Given the description of an element on the screen output the (x, y) to click on. 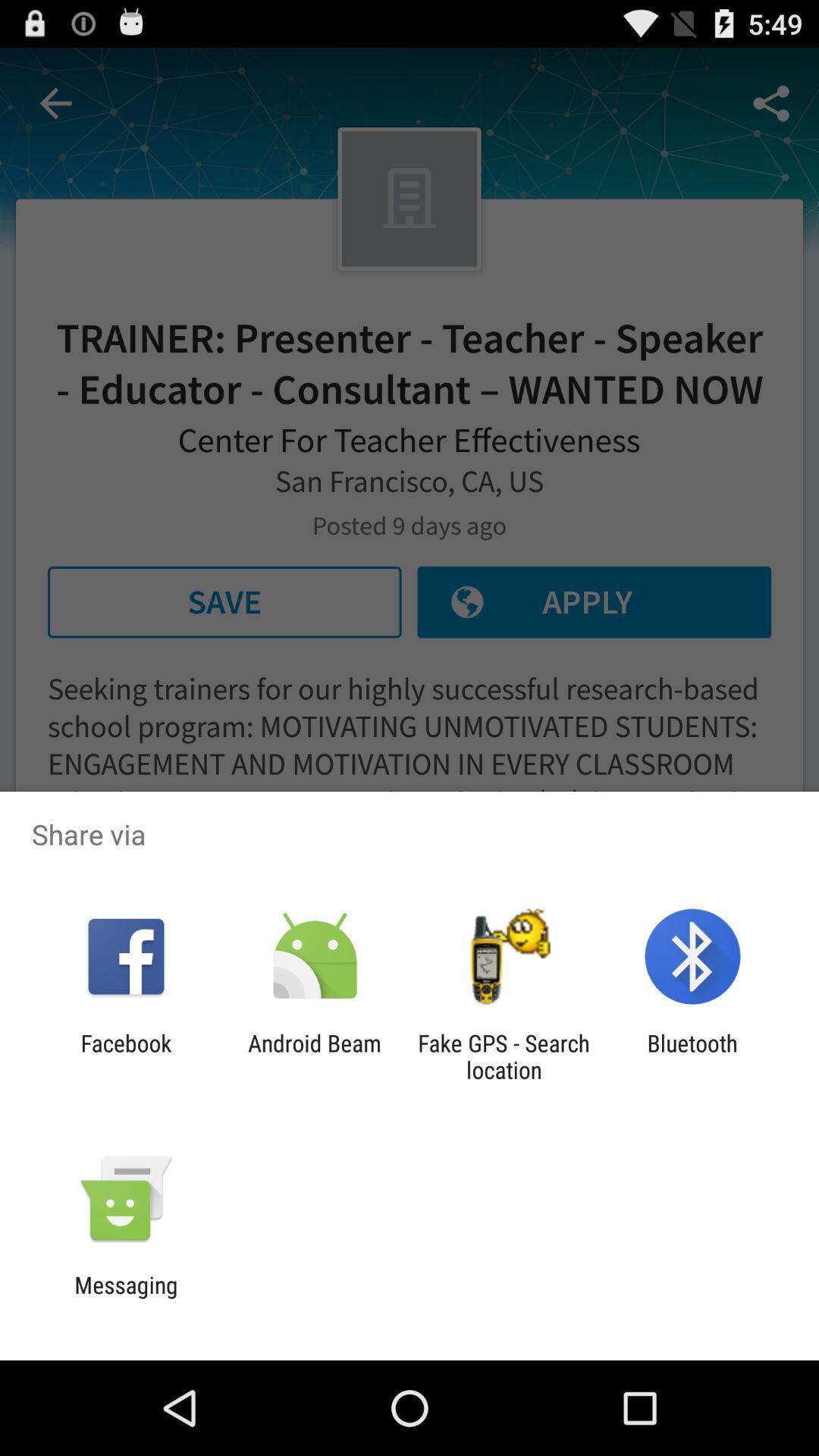
jump until the messaging app (126, 1298)
